Given the description of an element on the screen output the (x, y) to click on. 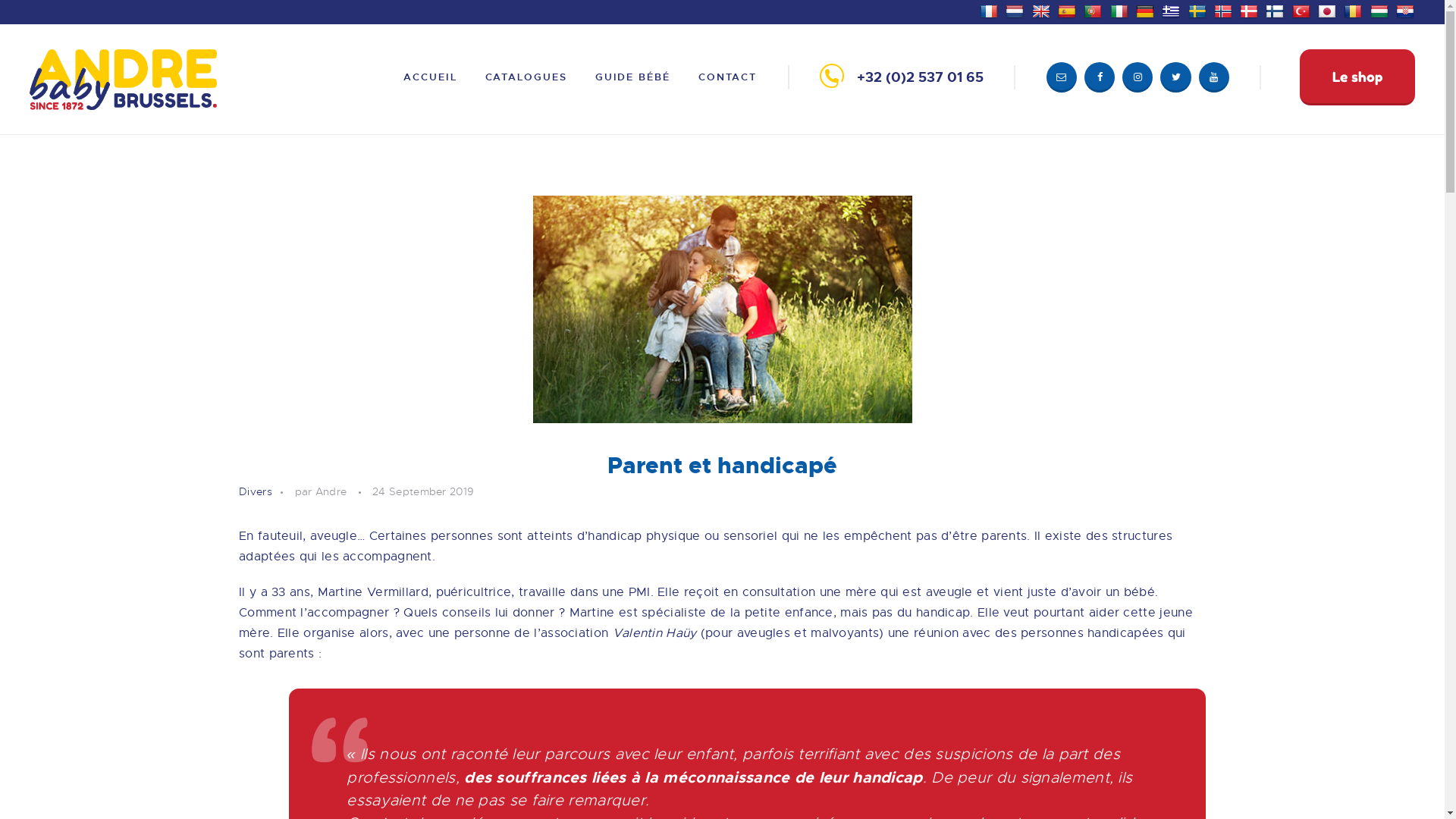
Hungarian Element type: hover (1381, 9)
par Andre Element type: text (331, 491)
Danish Element type: hover (1250, 9)
Turkish Element type: hover (1303, 9)
Croatian Element type: hover (1407, 9)
Italian Element type: hover (1121, 9)
Norwegian Element type: hover (1225, 9)
English Element type: hover (1043, 9)
ACCUEIL Element type: text (429, 76)
Greek Element type: hover (1172, 9)
Portuguese Element type: hover (1094, 9)
German Element type: hover (1146, 9)
Swedish Element type: hover (1198, 9)
Romanian Element type: hover (1354, 9)
CONTACT Element type: text (727, 76)
Le shop Element type: text (1357, 77)
Japanese Element type: hover (1328, 9)
Spanish Element type: hover (1068, 9)
French Element type: hover (990, 9)
Dutch Element type: hover (1016, 9)
Divers Element type: text (255, 491)
CATALOGUES Element type: text (525, 76)
24 September 2019 Element type: text (422, 491)
Finnish Element type: hover (1276, 9)
